Given the description of an element on the screen output the (x, y) to click on. 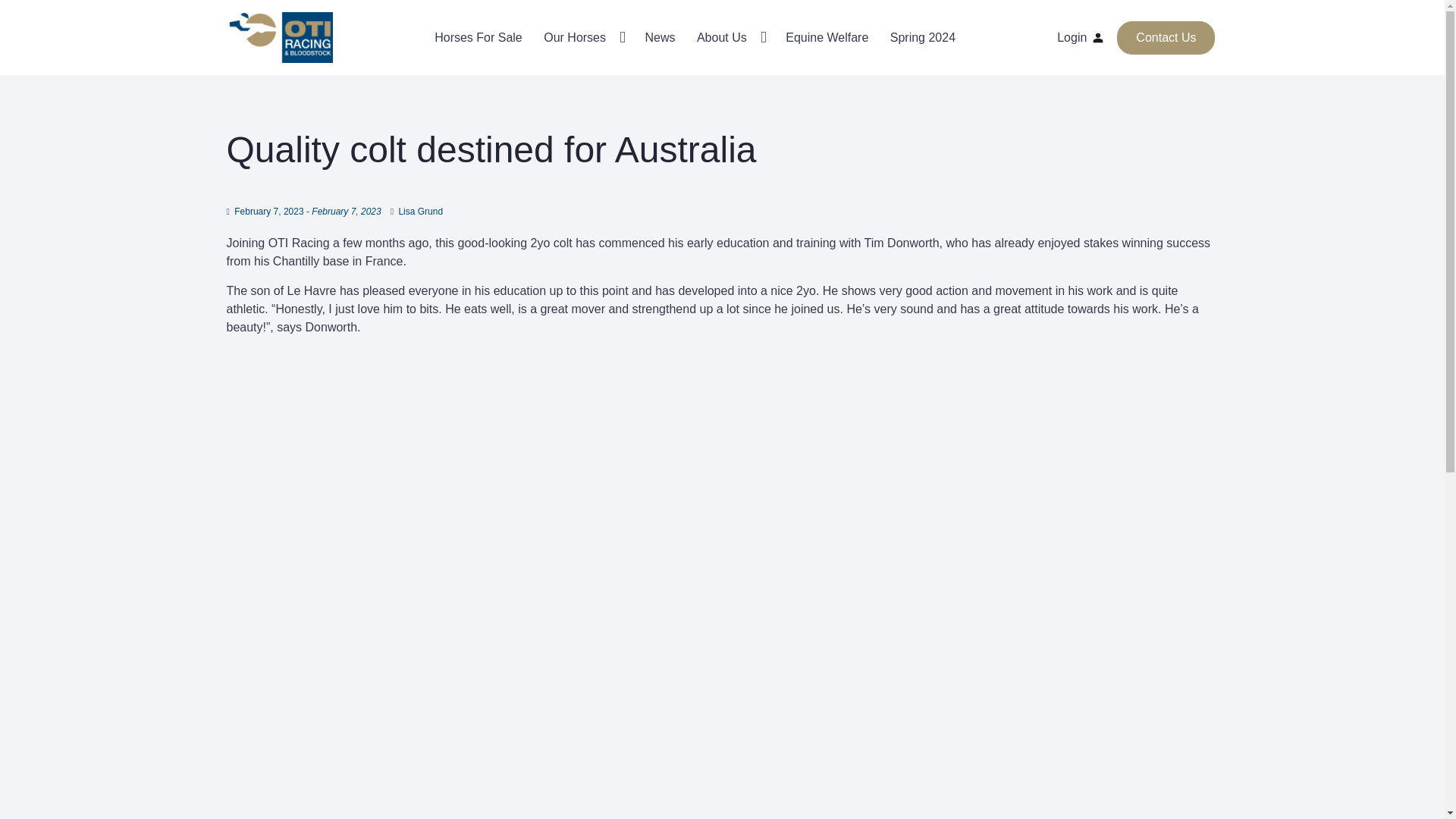
Lisa Grund (419, 211)
February 7, 2023 - February 7, 2023 (307, 211)
Login (1081, 37)
Equine Welfare (826, 37)
About Us (730, 37)
Horses For Sale (478, 37)
News (659, 37)
Contact Us (1165, 37)
Spring 2024 (921, 37)
Our Horses (582, 37)
